Given the description of an element on the screen output the (x, y) to click on. 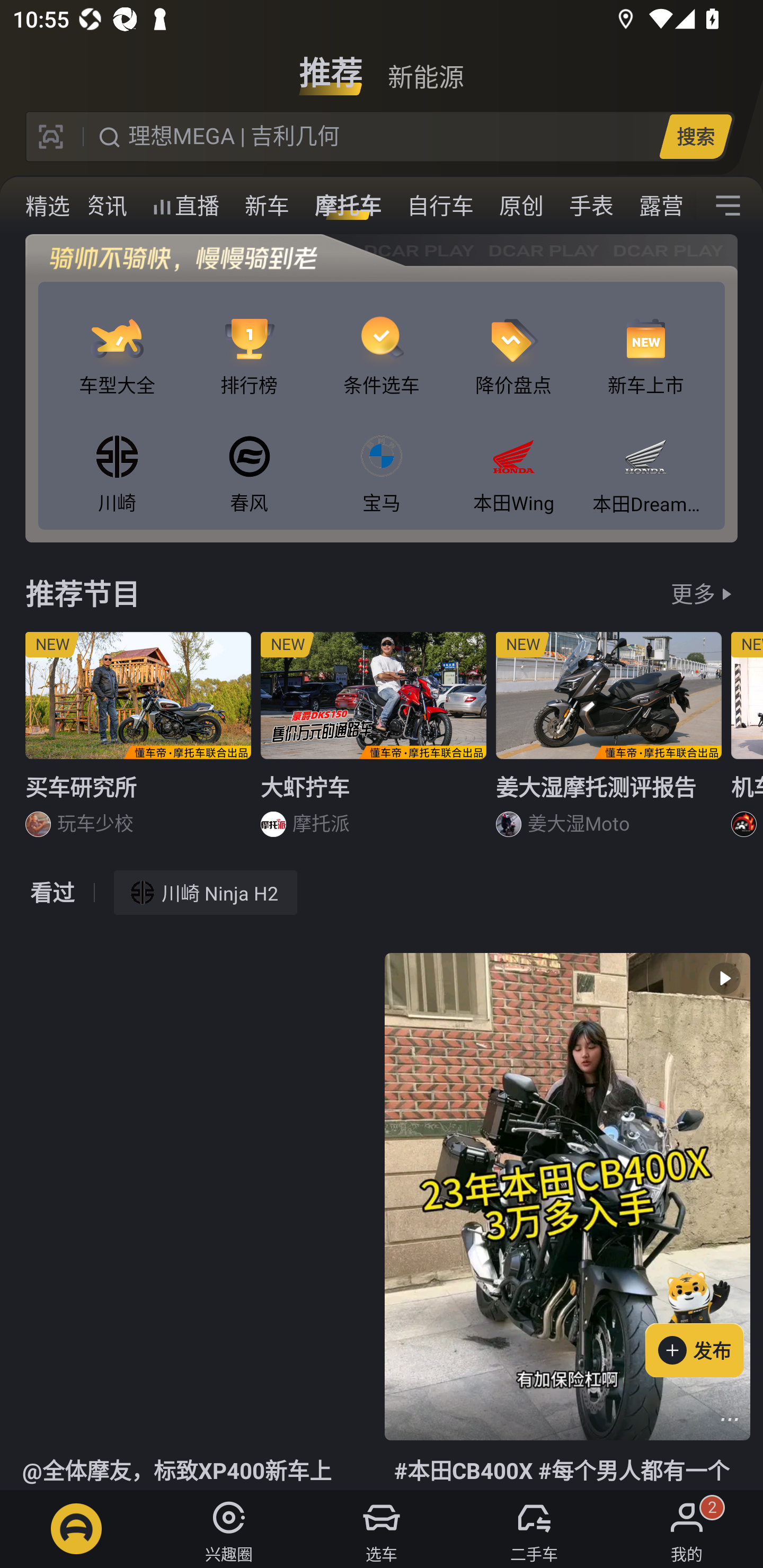
推荐 (330, 65)
新能源 (425, 65)
搜索 (695, 136)
精选 (35, 205)
资讯 (104, 205)
直播 (185, 205)
新车 (266, 205)
摩托车 (348, 205)
自行车 (440, 205)
原创 (521, 205)
手表 (591, 205)
露营 (660, 205)
 (727, 205)
车型大全 (117, 340)
排行榜 (249, 340)
条件选车 (381, 340)
降价盘点 (513, 340)
新车上市 (645, 340)
川崎 (117, 458)
春风 (249, 458)
宝马 (381, 458)
本田Wing (513, 458)
本田DreamWing (645, 458)
更多 (692, 593)
NEW 买车研究所 玩车少校 (138, 741)
NEW 大虾拧车 摩托派 (373, 741)
NEW 姜大湿摩托测评报告 姜大湿Moto (608, 741)
川崎 Ninja H2 (205, 892)
@全体摩友，标致XP400新车上市，试驾体验抢先看！ (195, 1221)
发布 (704, 1320)
 (729, 1419)
 兴趣圈 (228, 1528)
 选车 (381, 1528)
 二手车 (533, 1528)
 我的 (686, 1528)
